Given the description of an element on the screen output the (x, y) to click on. 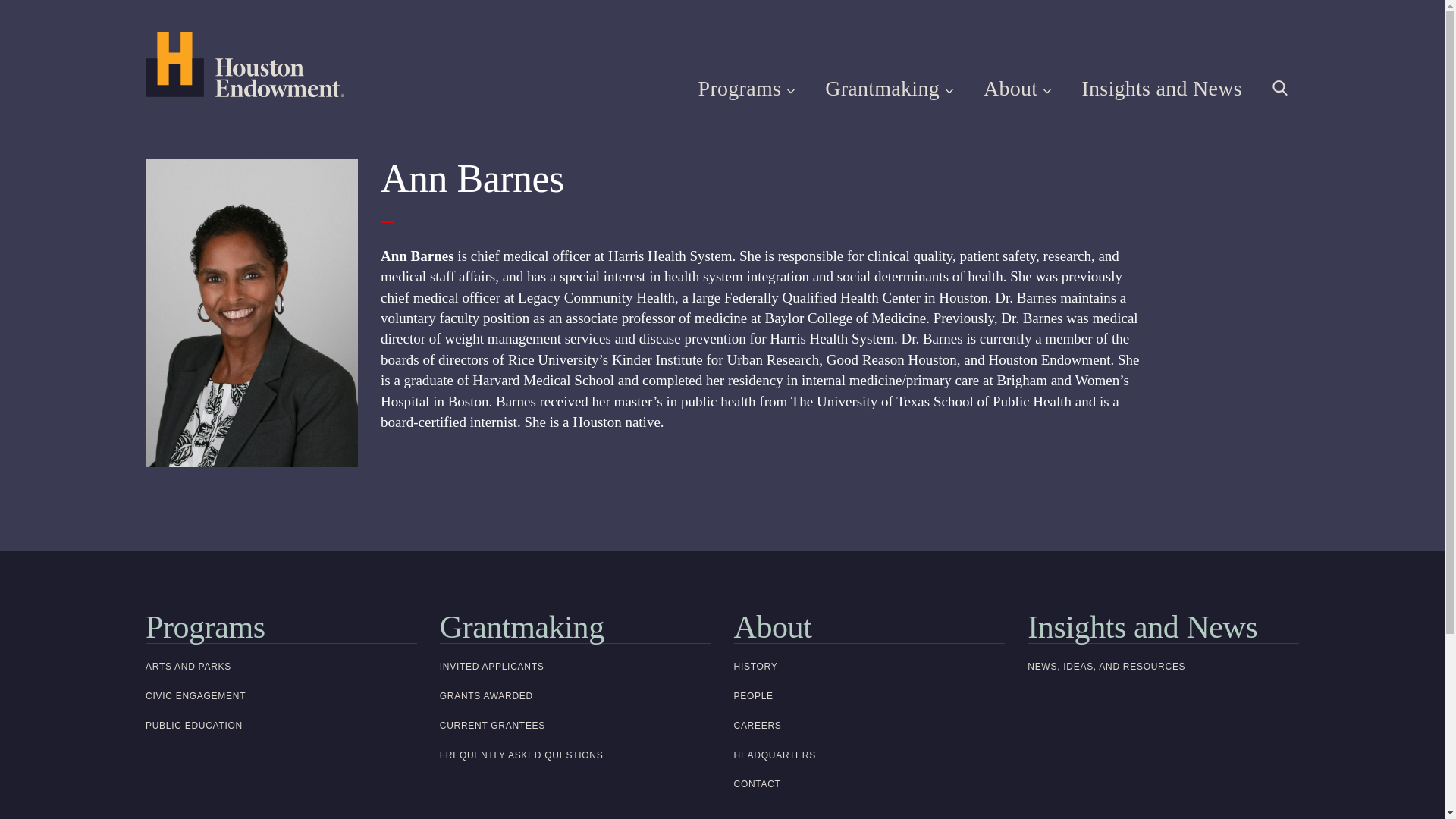
Grantmaking (575, 626)
CAREERS (869, 725)
GRANTS AWARDED (575, 696)
HEADQUARTERS (869, 755)
CONTACT (869, 784)
Insights and News (1162, 626)
Programs (746, 88)
Programs (280, 626)
Grantmaking (889, 88)
ARTS AND PARKS (280, 666)
